Given the description of an element on the screen output the (x, y) to click on. 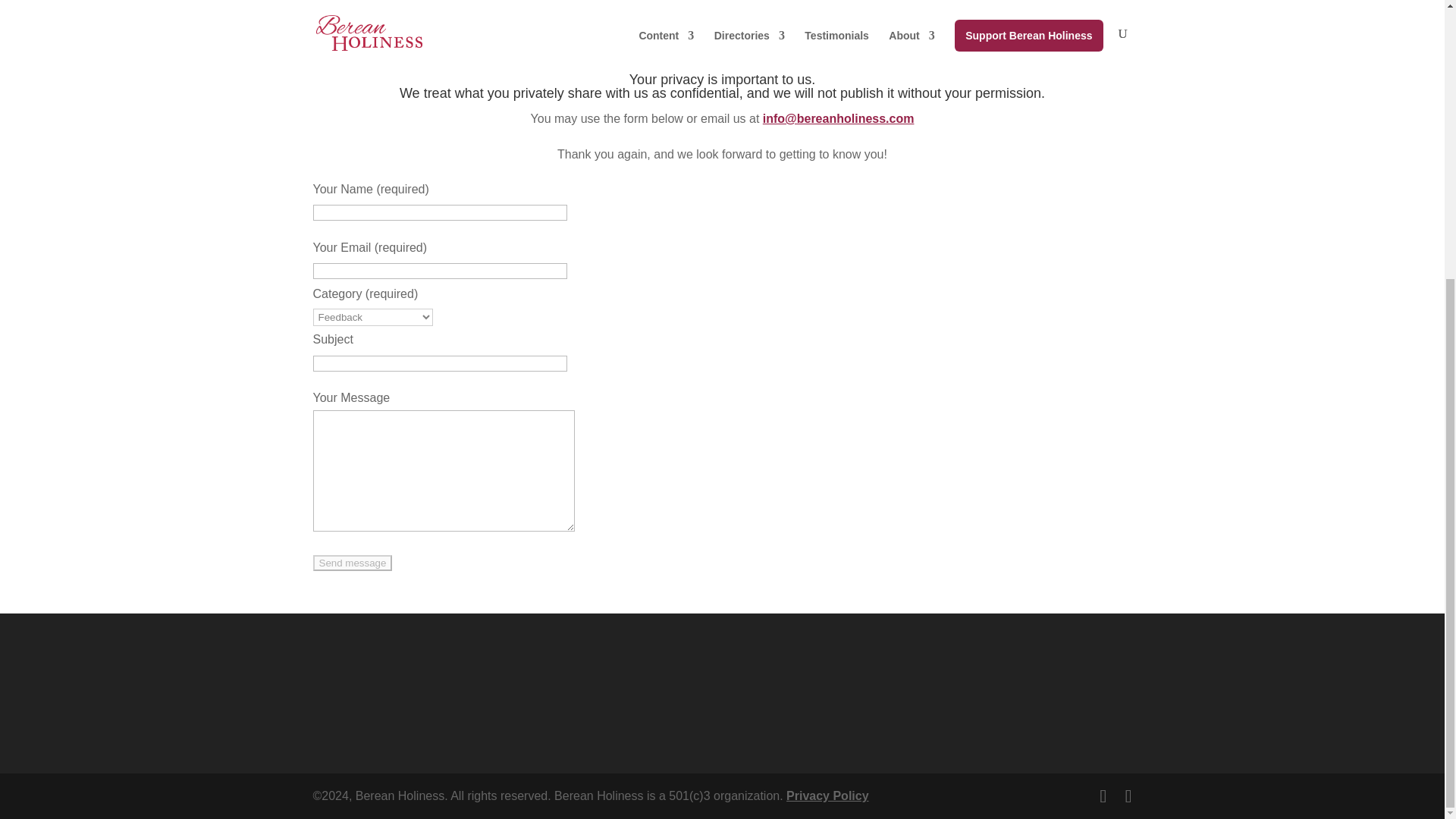
Tap here (493, 6)
Privacy Policy (827, 795)
Send message (352, 562)
Send message (352, 562)
